Given the description of an element on the screen output the (x, y) to click on. 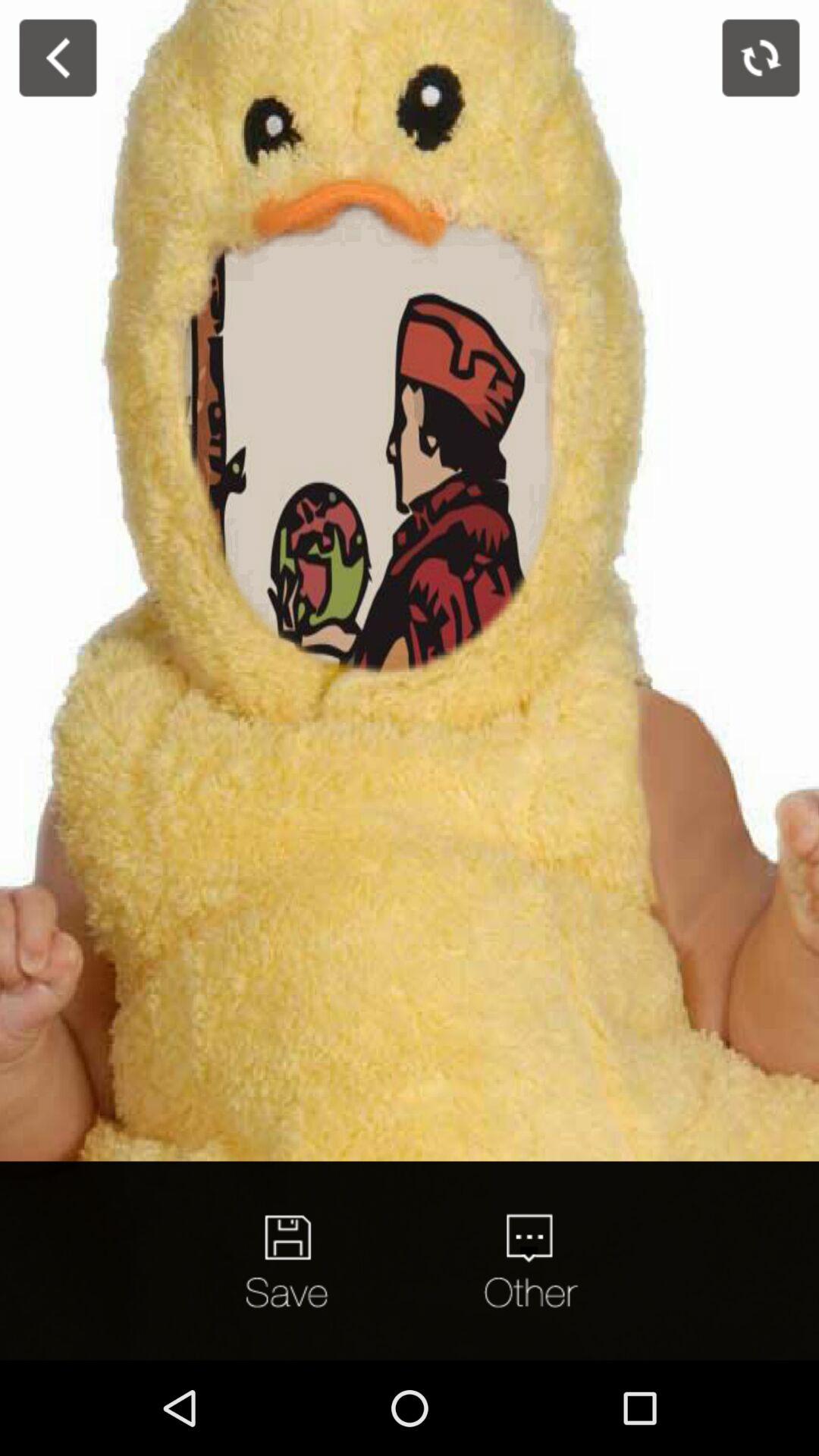
clear the current edited image (760, 57)
